Given the description of an element on the screen output the (x, y) to click on. 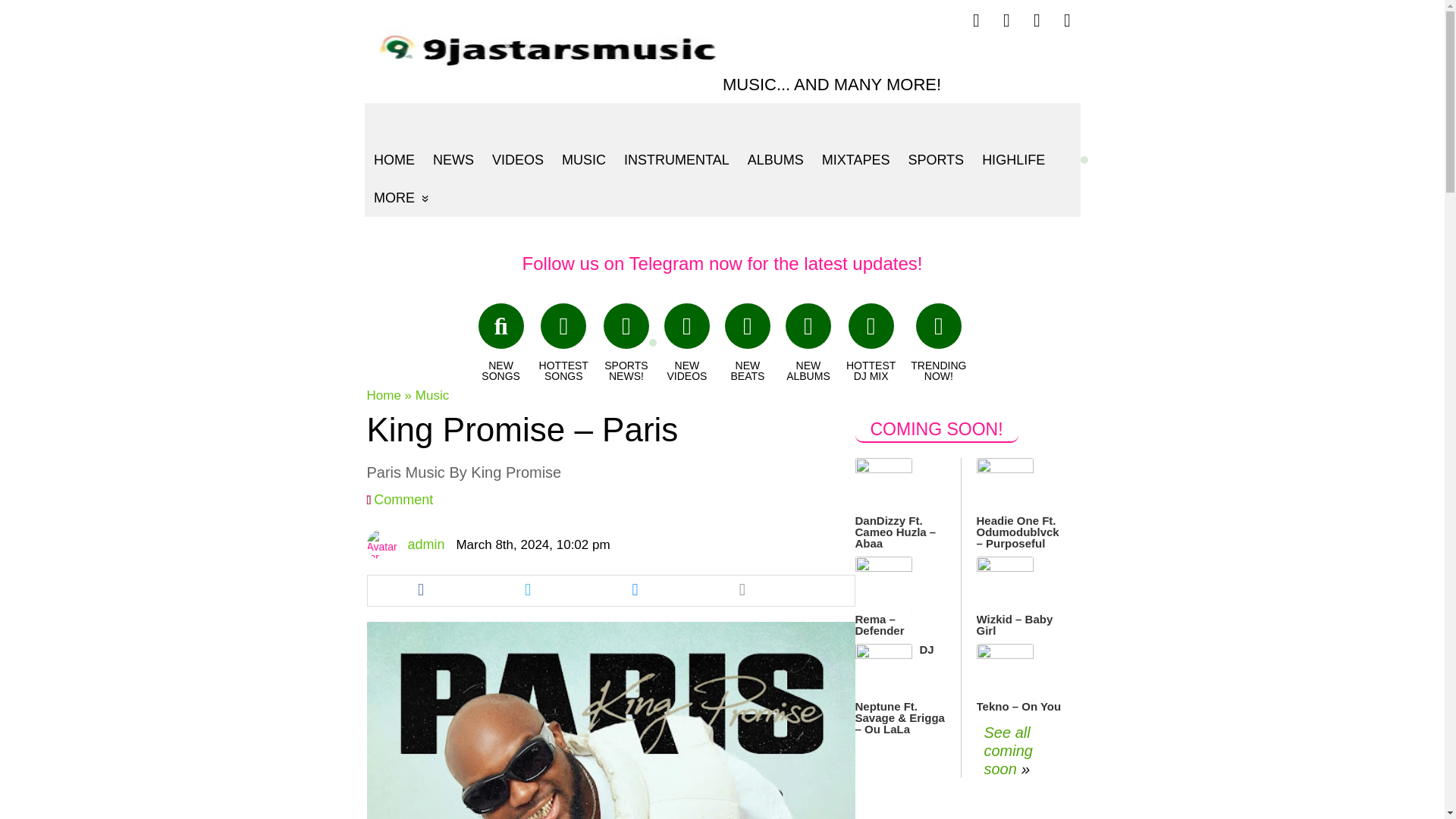
MUSIC (583, 159)
HOME (393, 159)
Follow Naijabunch.com Instagram (1067, 20)
Posts by admin (425, 544)
Follow us on Telegram now for the latest updates! (722, 263)
Home (383, 395)
VIDEOS (516, 159)
Gravatar for admin (381, 544)
MIXTAPES (855, 159)
MORE (401, 198)
